Given the description of an element on the screen output the (x, y) to click on. 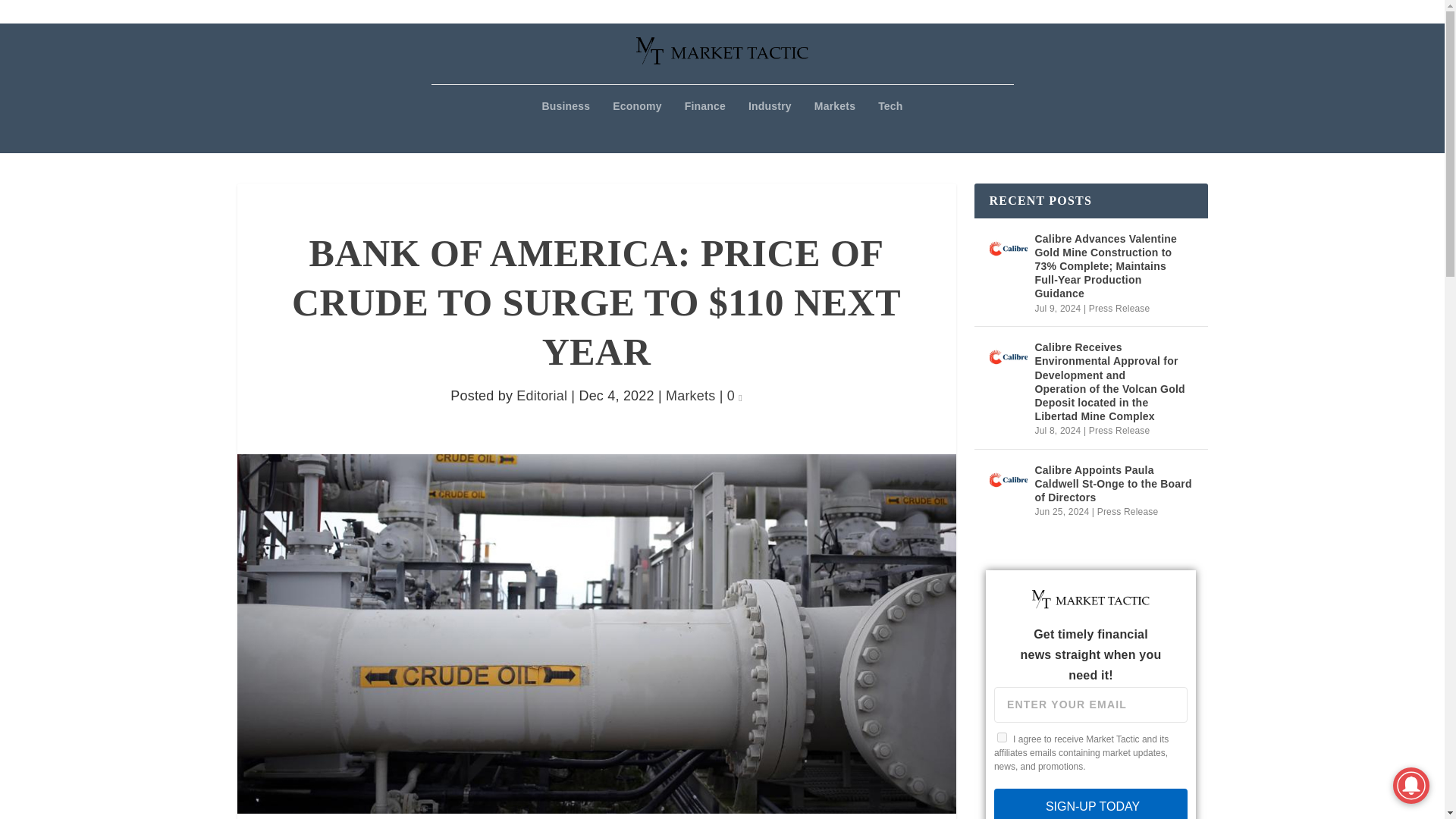
Business (565, 126)
comment count (740, 397)
Posts by Editorial (541, 395)
Finance (704, 126)
Economy (636, 126)
Industry (770, 126)
Markets (689, 395)
Editorial (541, 395)
on (1002, 737)
Markets (834, 126)
0 (734, 395)
Tech (889, 126)
Press Release (1119, 308)
